Given the description of an element on the screen output the (x, y) to click on. 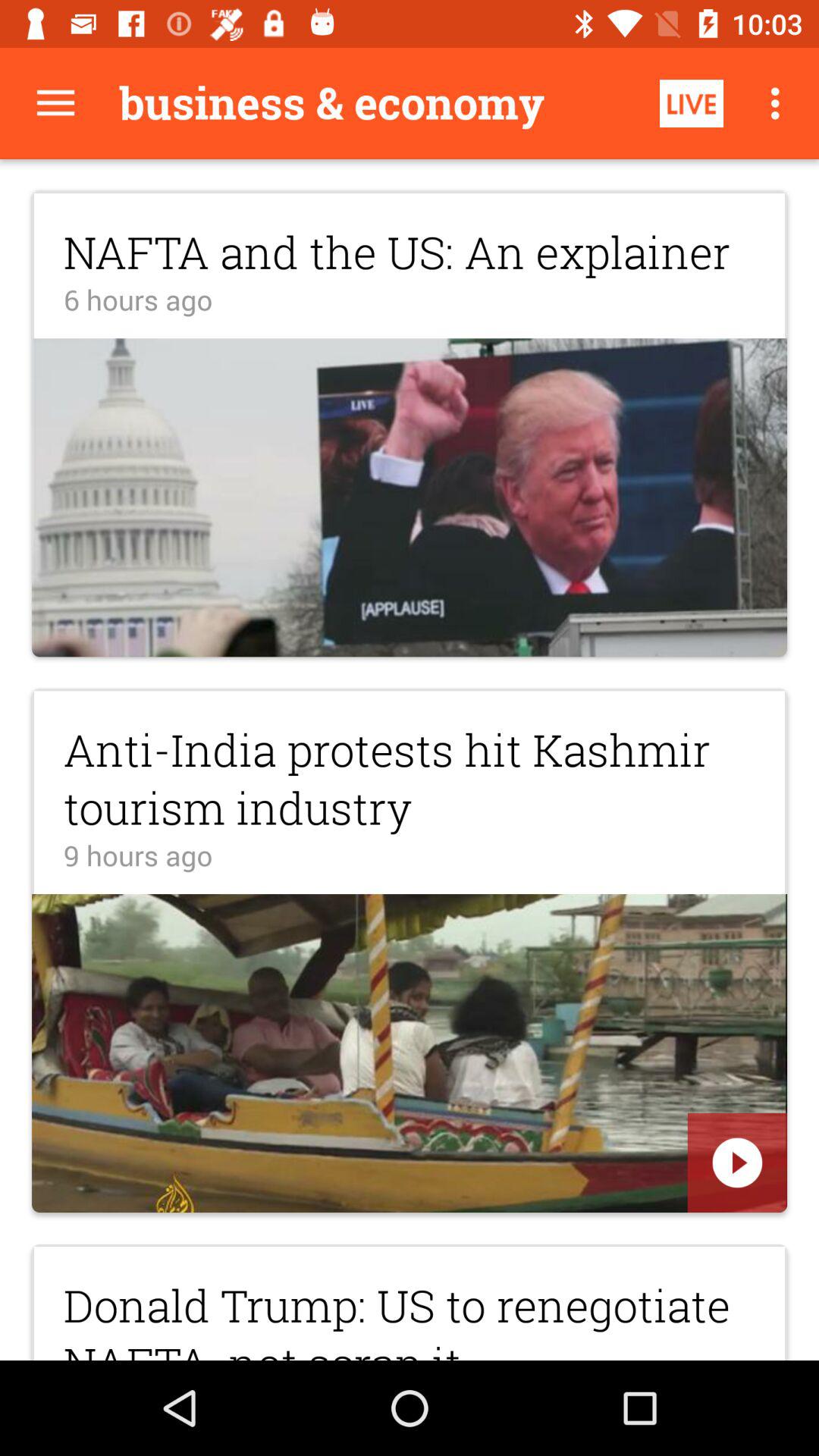
open menu (55, 103)
